Given the description of an element on the screen output the (x, y) to click on. 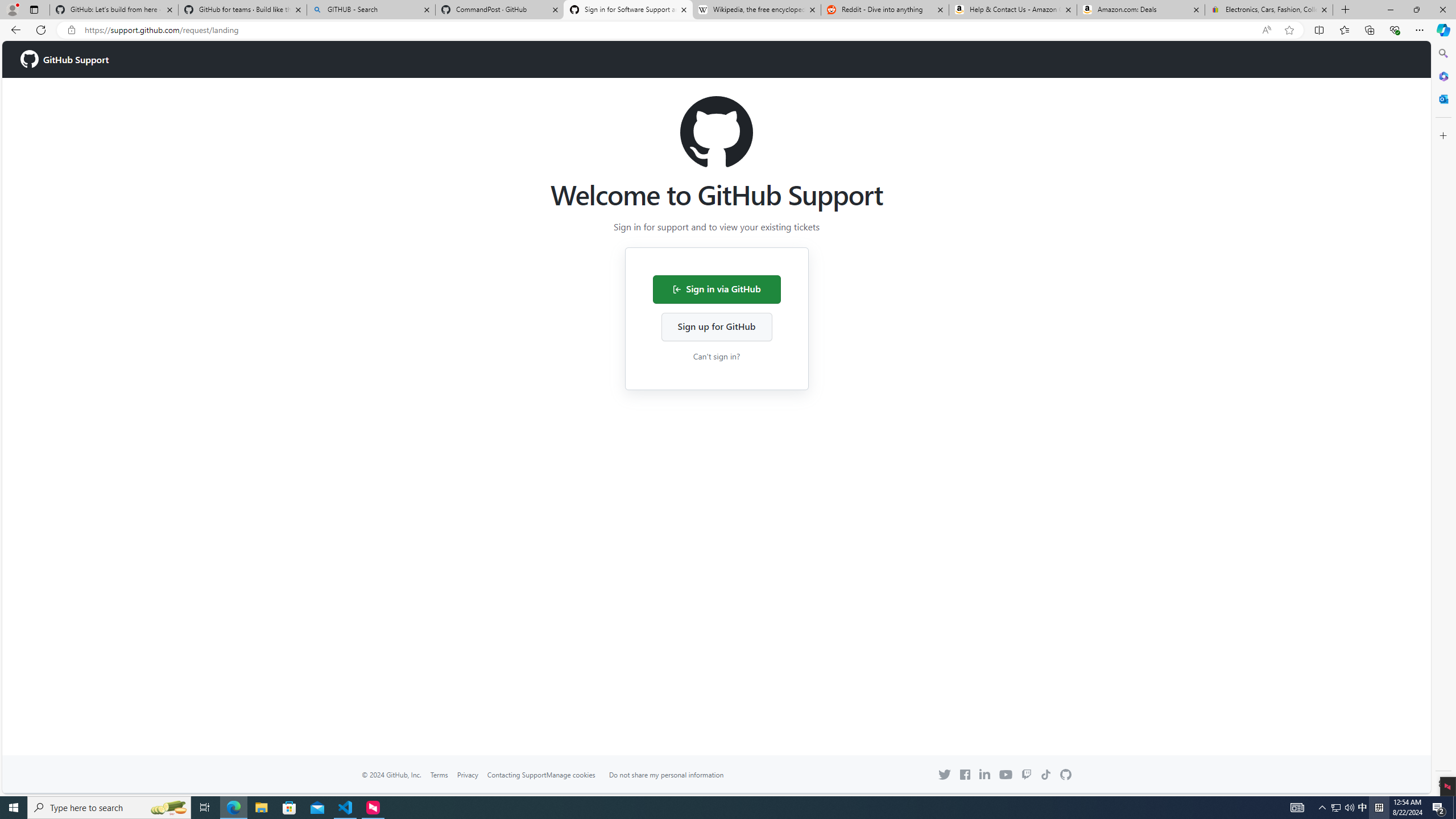
Sign in via GitHub (716, 288)
GitHub on TikTok (1046, 774)
Contacting Support (516, 774)
Help & Contact Us - Amazon Customer Service (1012, 9)
Back to GitHub.com (1065, 774)
GitHub Support (64, 58)
Do not share my personal information (665, 774)
TikTok icon (1046, 774)
